Given the description of an element on the screen output the (x, y) to click on. 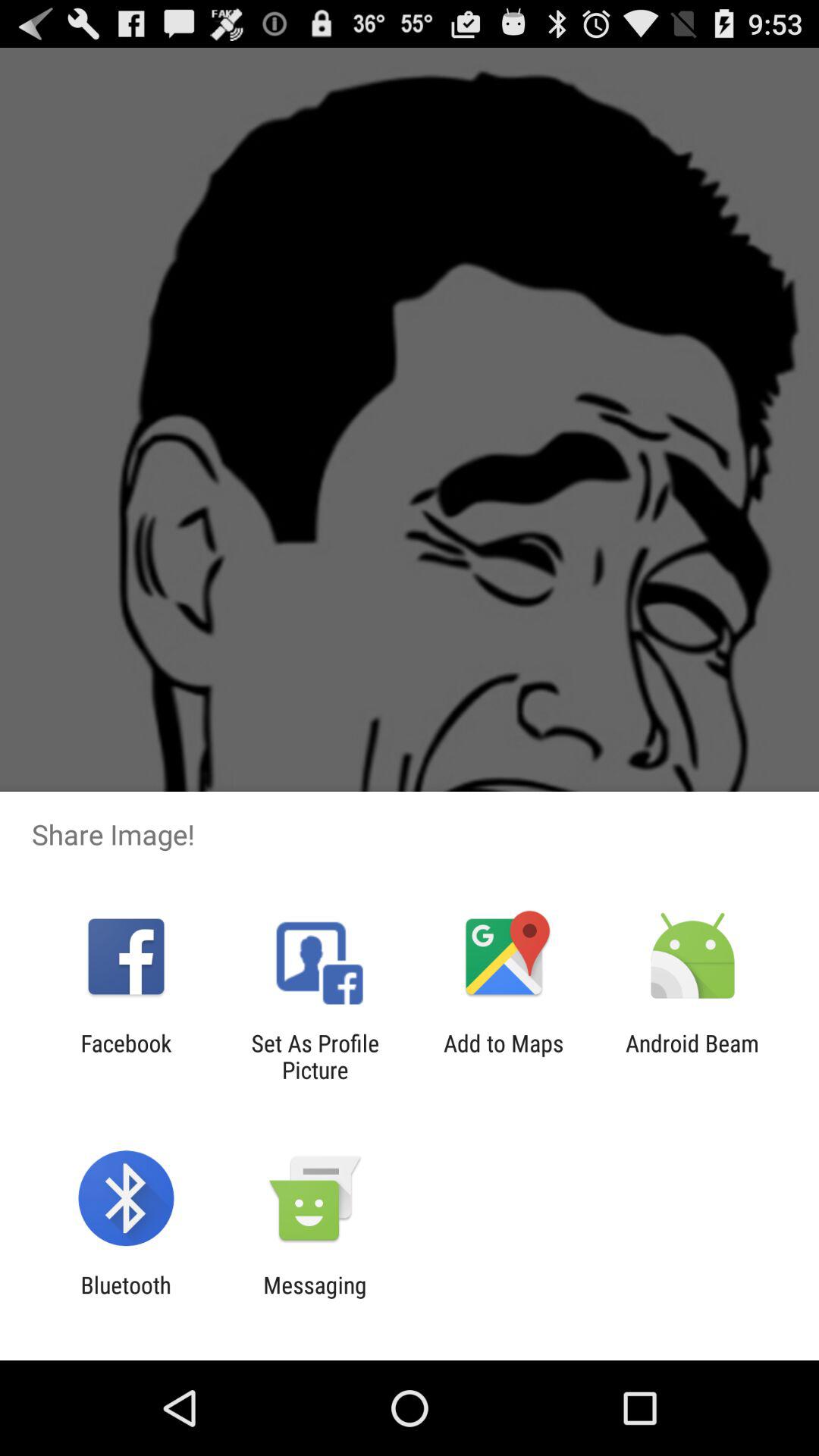
swipe to the facebook (125, 1056)
